Given the description of an element on the screen output the (x, y) to click on. 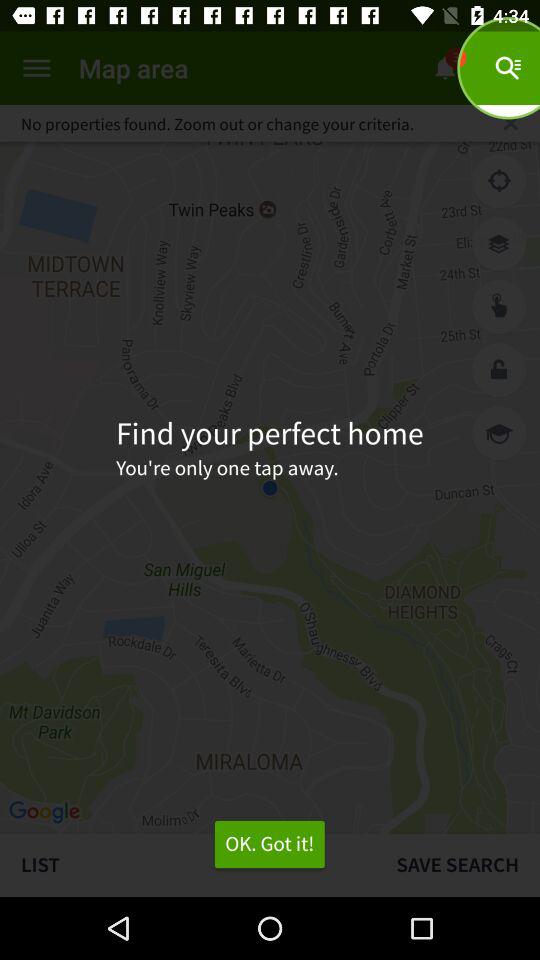
tap icon below the no properties found item (499, 181)
